Given the description of an element on the screen output the (x, y) to click on. 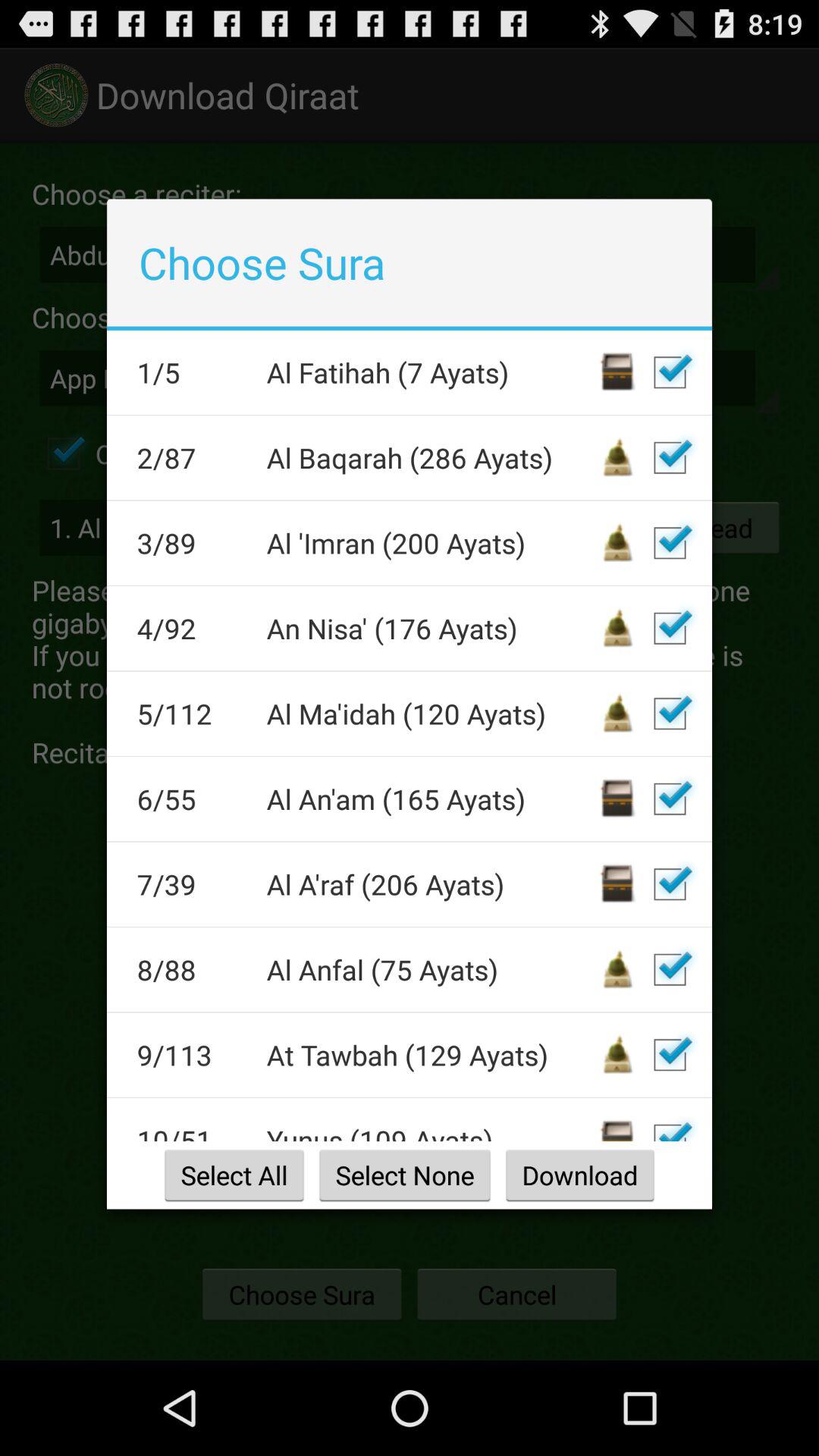
click the item above select all item (430, 1131)
